Given the description of an element on the screen output the (x, y) to click on. 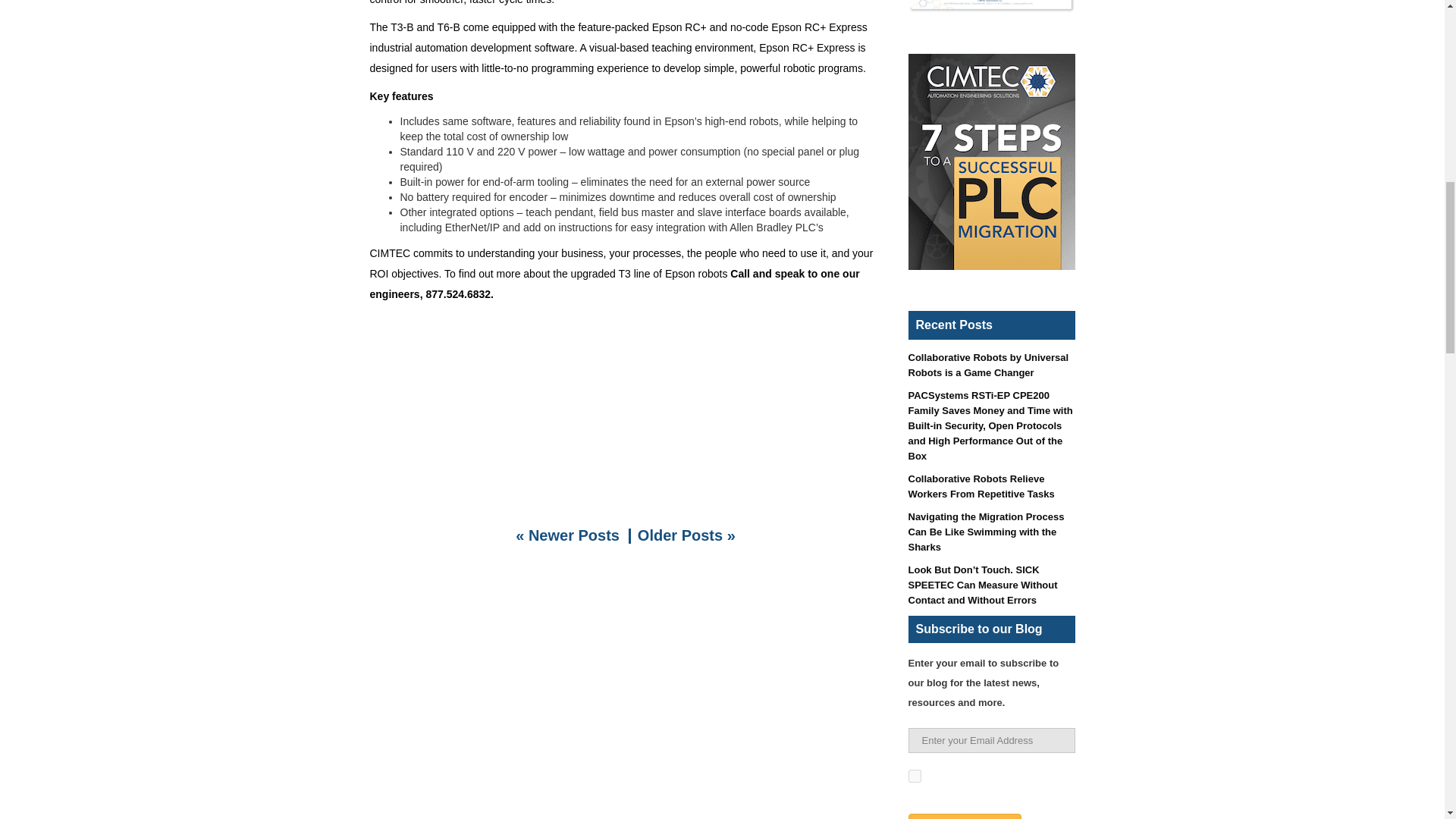
on (914, 775)
Subscribe (965, 816)
Collaborative Robots by Universal Robots is a Game Changer (988, 365)
Subscribe (965, 816)
Collaborative Robots Relieve Workers From Repetitive Tasks (981, 486)
